Given the description of an element on the screen output the (x, y) to click on. 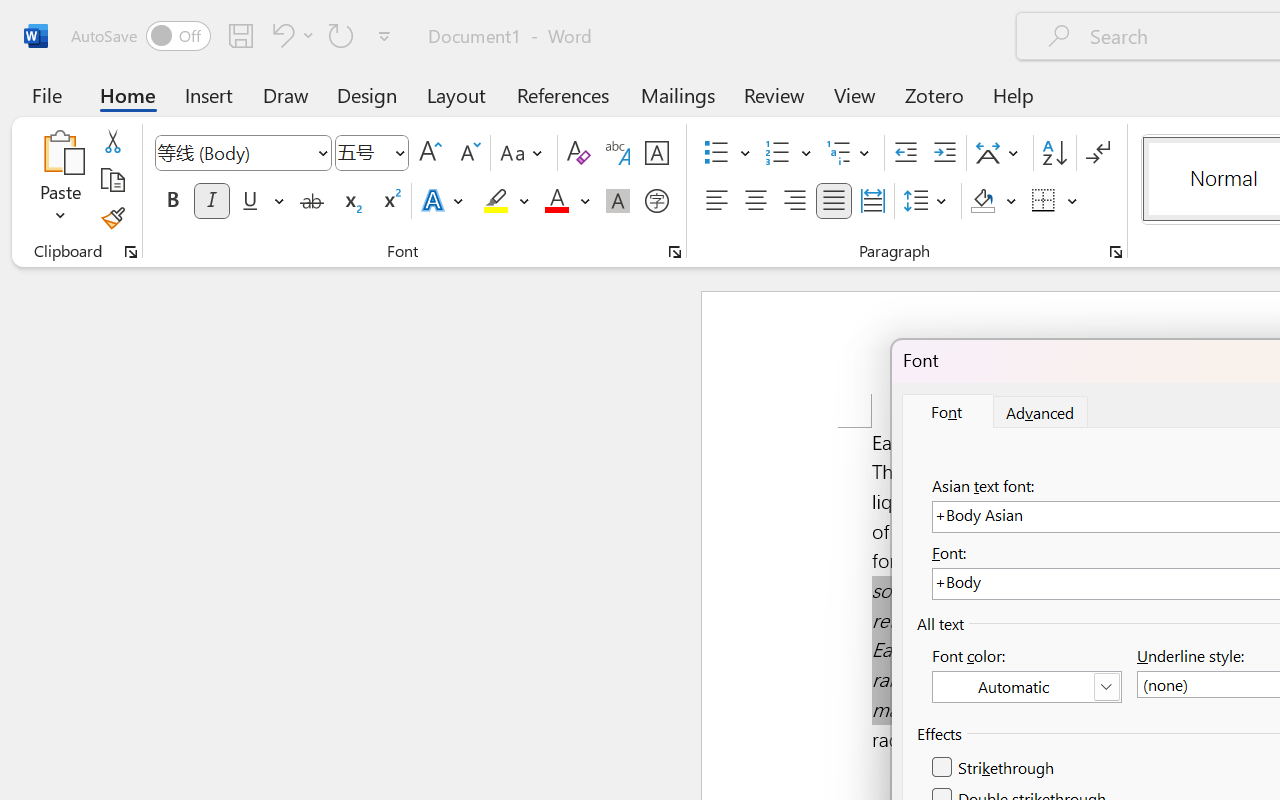
Shading RGB(0, 0, 0) (982, 201)
Office Clipboard... (131, 252)
Italic (212, 201)
Justify (834, 201)
Repeat Doc Close (341, 35)
Help (1013, 94)
Format Painter (112, 218)
Grow Font (430, 153)
Shrink Font (468, 153)
